Given the description of an element on the screen output the (x, y) to click on. 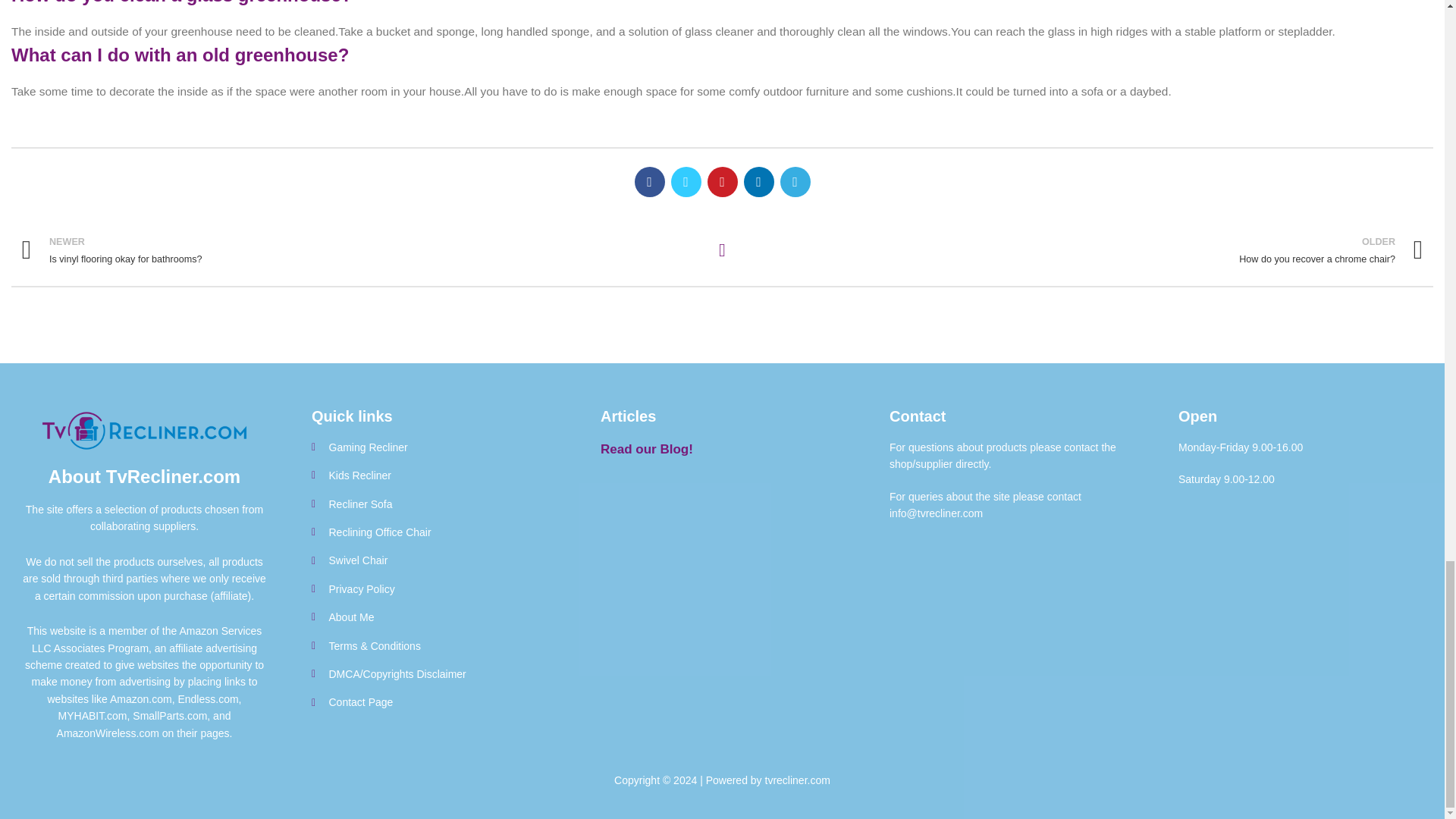
Gaming Recliner (361, 250)
Swivel Chair (432, 446)
Recliner Sofa (432, 560)
About Me (432, 504)
Reclining Office Chair (1082, 250)
Kids Recliner (432, 617)
Back to list (432, 532)
Privacy Policy (432, 475)
